Given the description of an element on the screen output the (x, y) to click on. 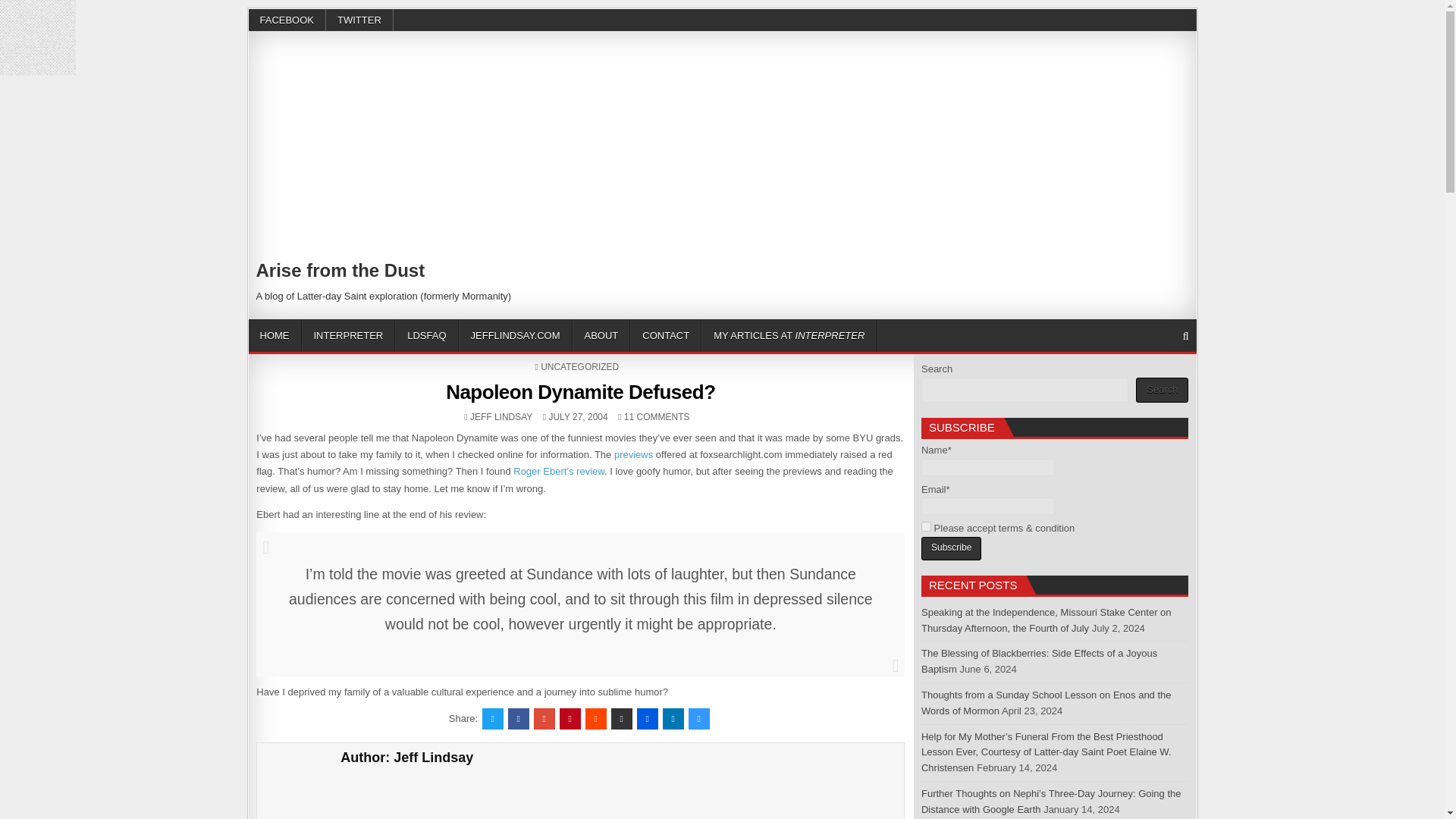
JEFF LINDSAY (501, 416)
Share this on Linkedin (673, 718)
Subscribe (951, 548)
FACEBOOK (287, 20)
Share this on Delicious (699, 718)
Share this on Pinterest (569, 718)
Share this on VK (621, 718)
MY ARTICLES AT INTERPRETER (788, 335)
UNCATEGORIZED (579, 366)
ABOUT (601, 335)
